Given the description of an element on the screen output the (x, y) to click on. 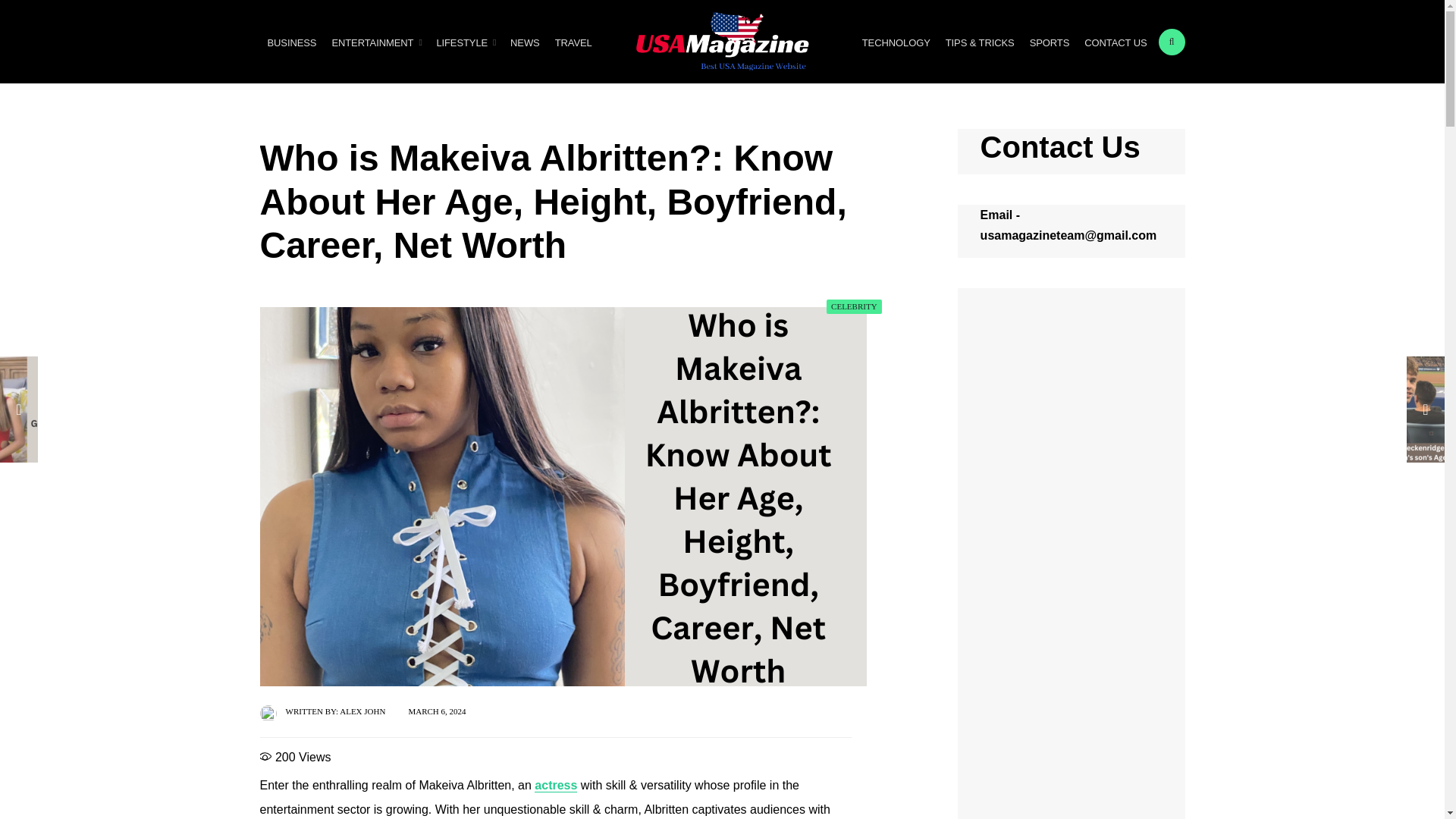
BUSINESS (291, 42)
CELEBRITY (854, 306)
actress (555, 785)
NEWS (524, 42)
Posts by Alex John (362, 710)
TRAVEL (573, 42)
CONTACT US (1115, 42)
SPORTS (1049, 42)
ENTERTAINMENT (375, 42)
TECHNOLOGY (895, 42)
ALEX JOHN (362, 710)
LIFESTYLE (465, 42)
